Given the description of an element on the screen output the (x, y) to click on. 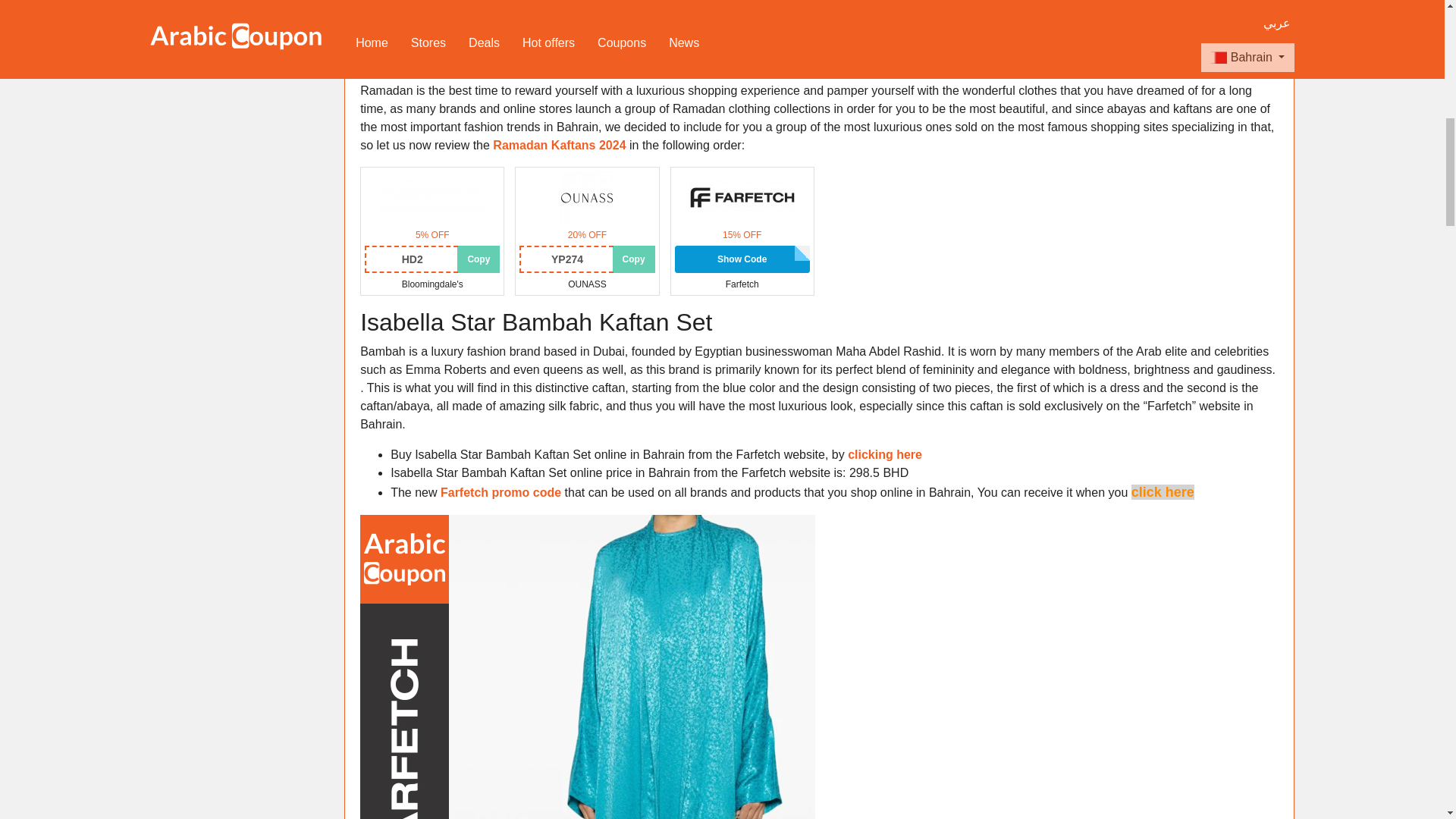
OUNASS LOGO - ArabicCoupon - ounass coupon and promo code (587, 197)
5 Kaftans for a luxurious and elegant Ramadan style (814, 31)
Copy (633, 258)
OUNASS (587, 196)
Bloomingdale's  (431, 196)
click here (1162, 491)
Copy the code (633, 258)
Farfetch promo code (500, 492)
Isabella Star Bambah Kaftan Set (535, 321)
Farfetch (741, 196)
